Given the description of an element on the screen output the (x, y) to click on. 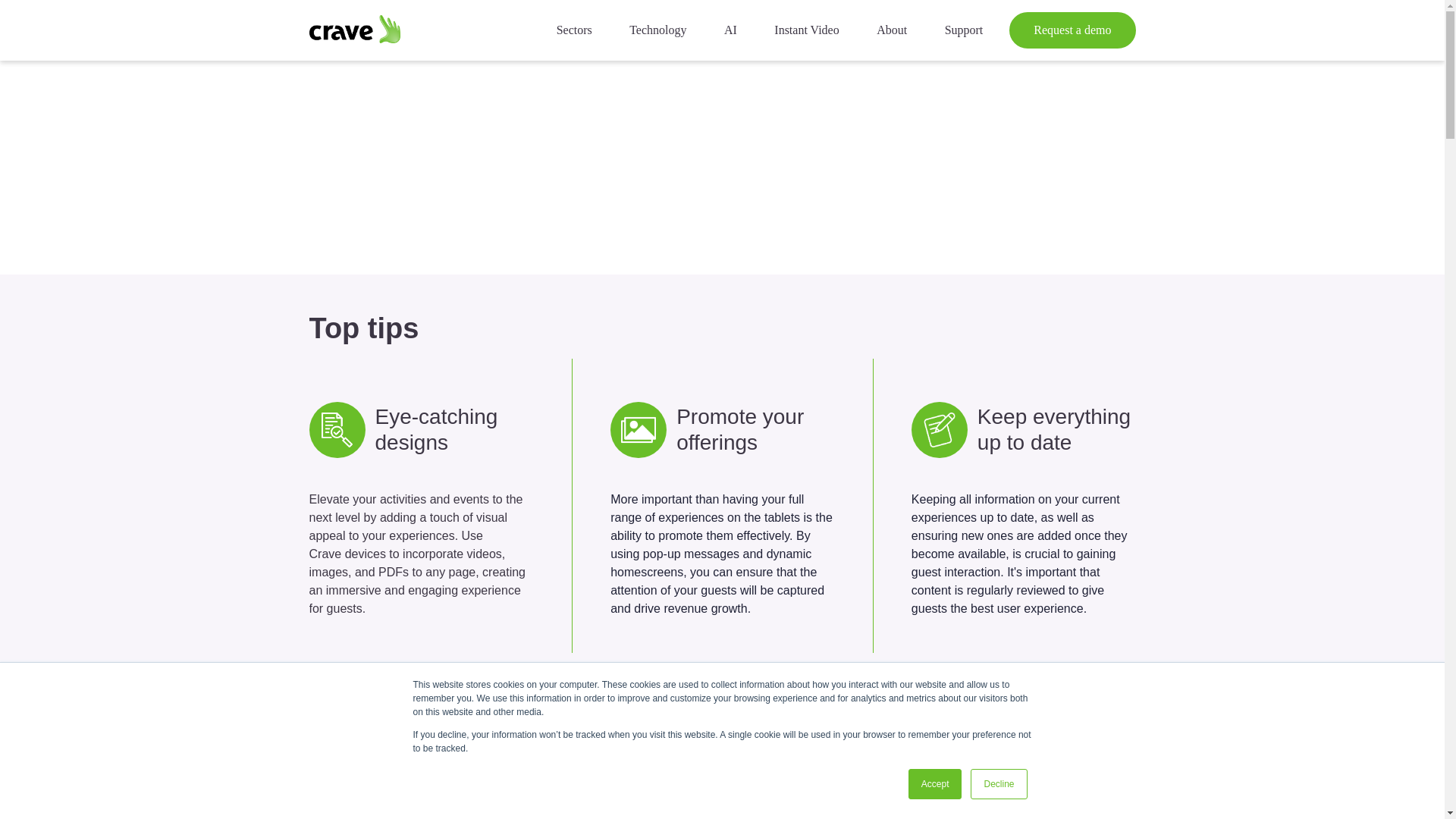
Decline (998, 784)
Sectors (574, 30)
Technology (657, 30)
Instant Video (805, 30)
Request a demo (1072, 30)
Support (964, 30)
Accept (935, 784)
AI (730, 30)
About (891, 30)
